Given the description of an element on the screen output the (x, y) to click on. 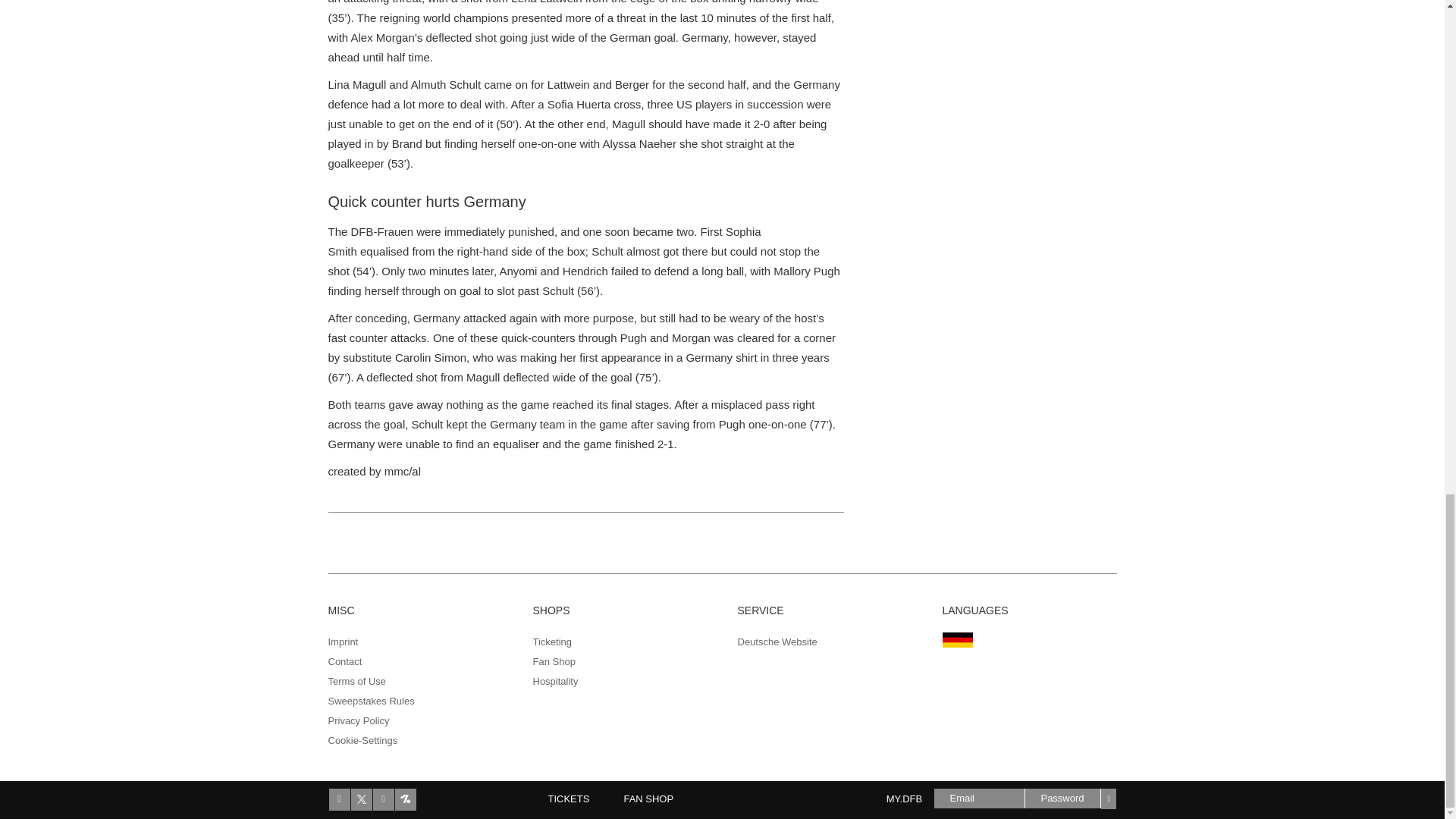
Contact (344, 661)
Imprint (342, 642)
Sweepstakes Rules (370, 701)
Terms of Use (356, 681)
Cookie-Settings (362, 740)
Privacy Policy (357, 720)
Ticketing (552, 642)
